Given the description of an element on the screen output the (x, y) to click on. 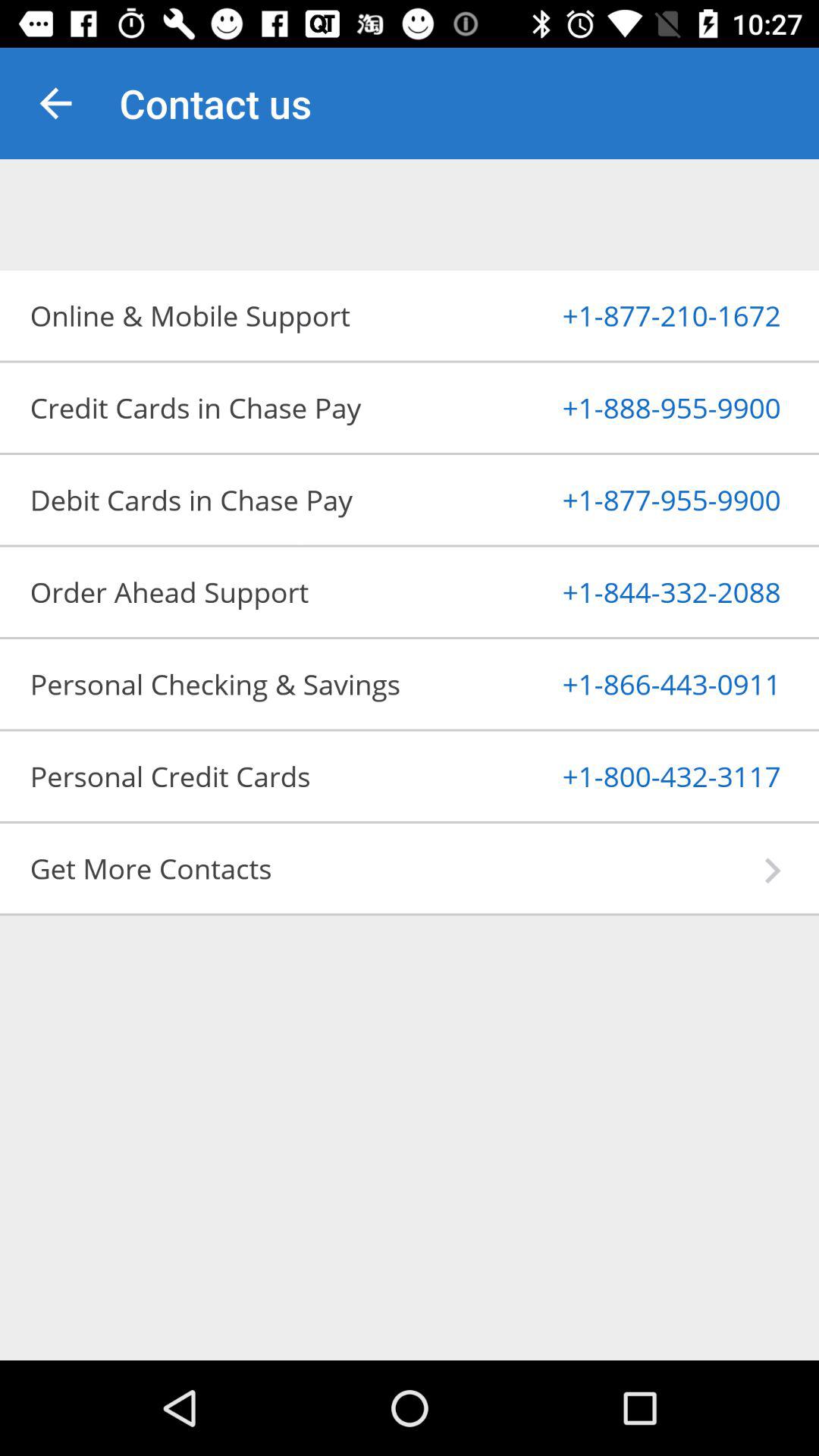
open app to the left of the contact us item (55, 103)
